Given the description of an element on the screen output the (x, y) to click on. 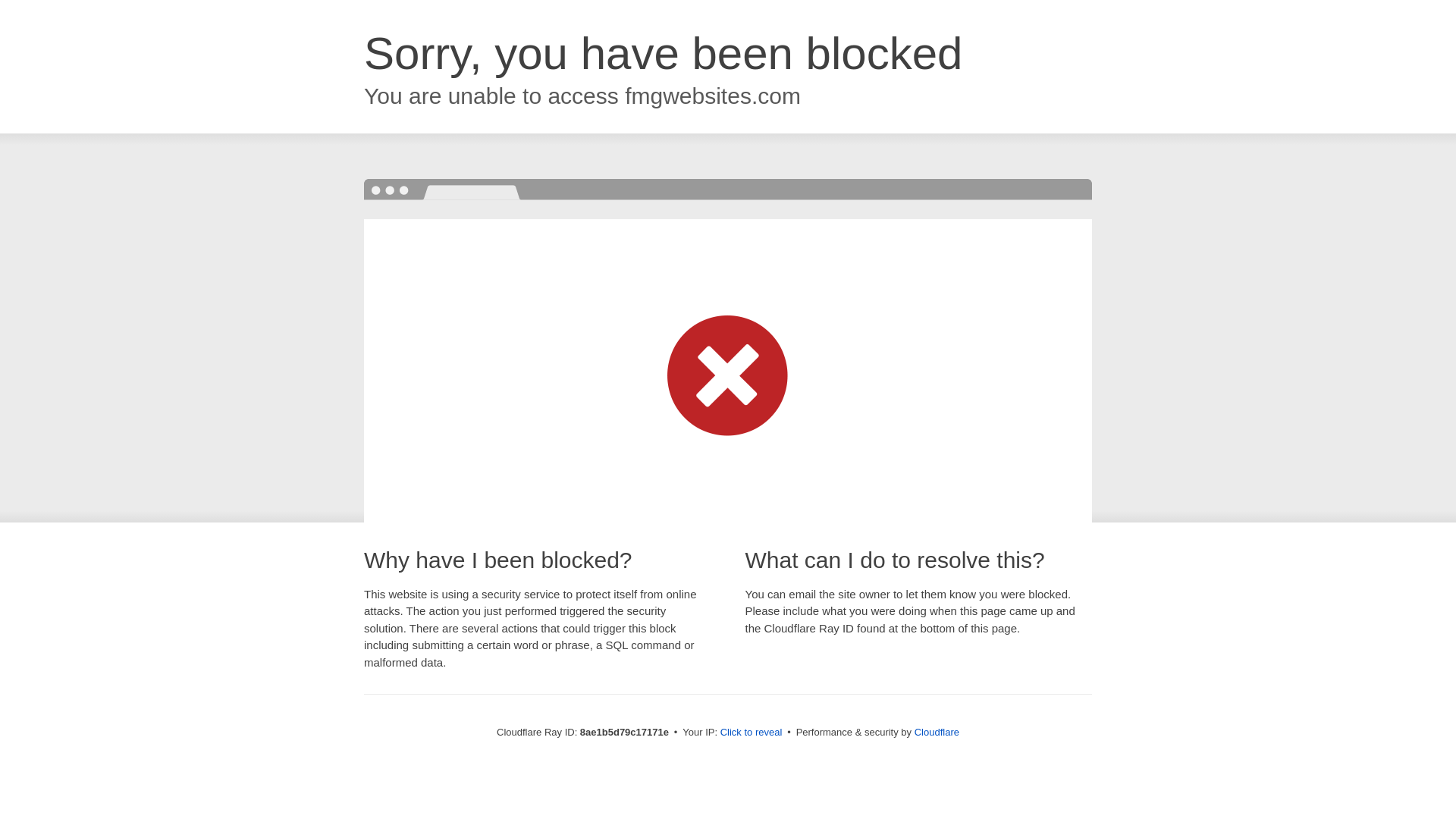
Cloudflare (936, 731)
Click to reveal (751, 732)
